Given the description of an element on the screen output the (x, y) to click on. 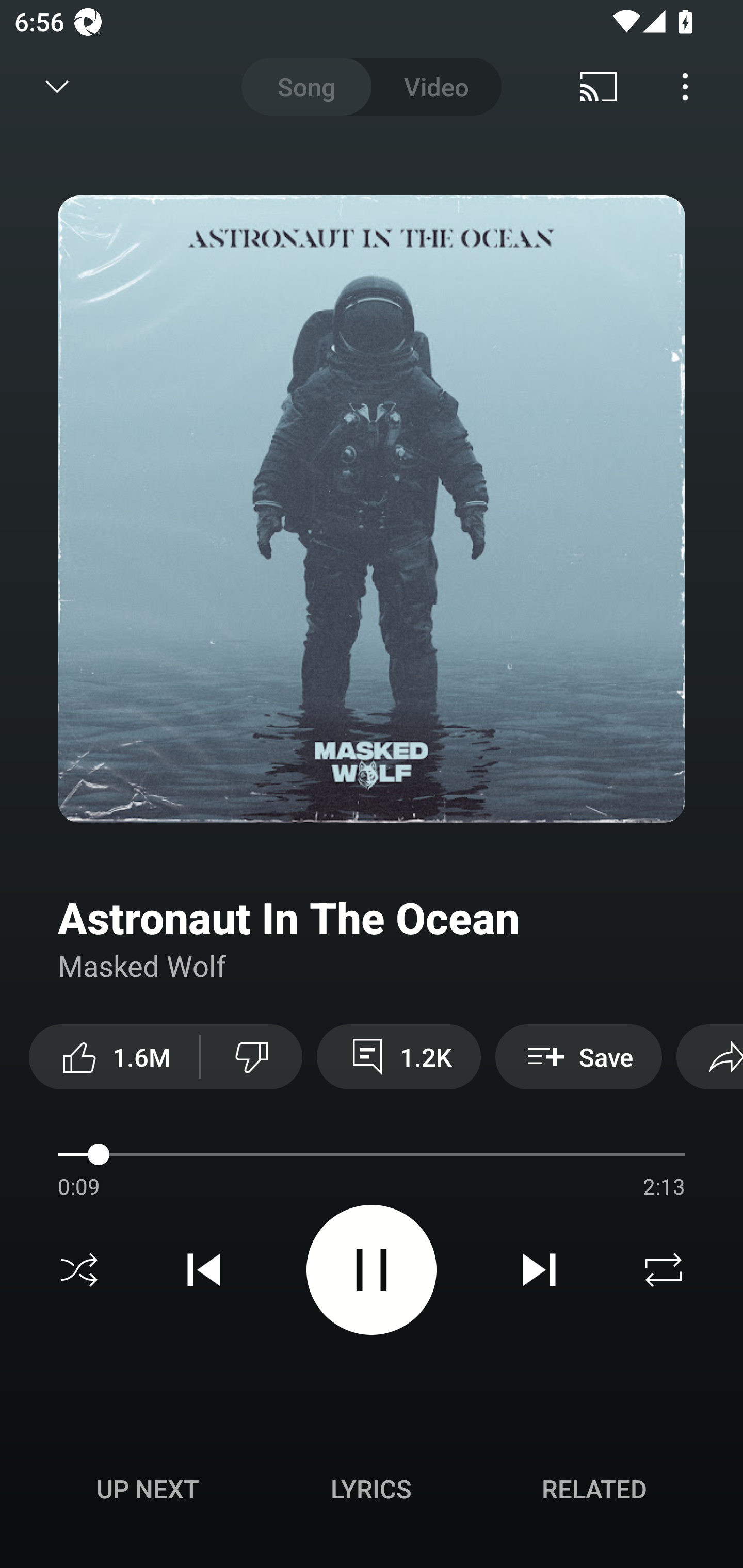
Minimize (57, 86)
Cast. Disconnected (598, 86)
Menu (684, 86)
Dislike (251, 1056)
1.2K View 1,254 comments (398, 1056)
Save Save to playlist (578, 1056)
Share (709, 1056)
Pause video (371, 1269)
Shuffle off (79, 1269)
Previous track (203, 1269)
Next track (538, 1269)
Repeat off (663, 1269)
Up next UP NEXT Lyrics LYRICS Related RELATED (371, 1491)
Lyrics LYRICS (370, 1488)
Related RELATED (594, 1488)
